Given the description of an element on the screen output the (x, y) to click on. 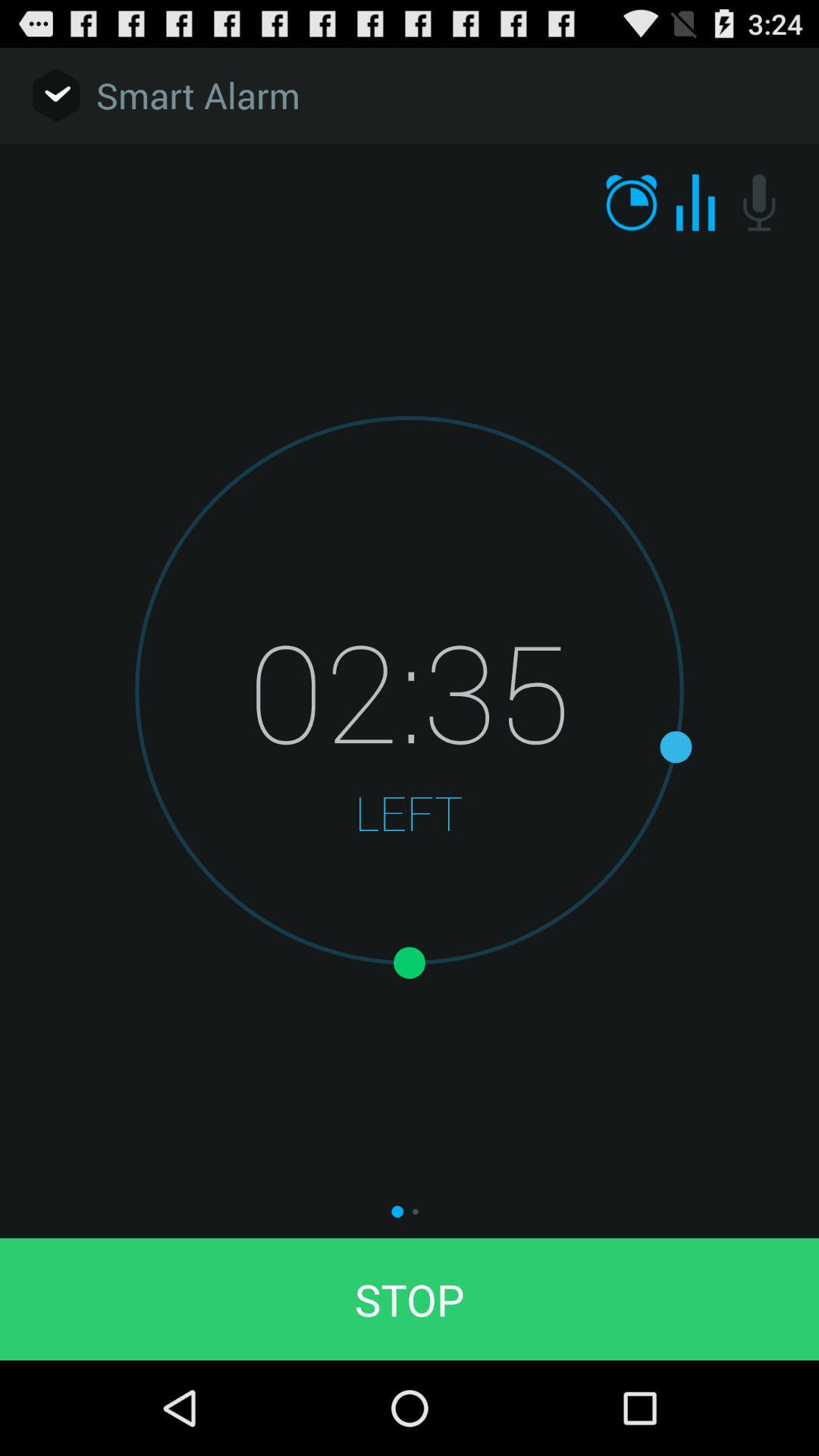
open the stop item (409, 1299)
